Given the description of an element on the screen output the (x, y) to click on. 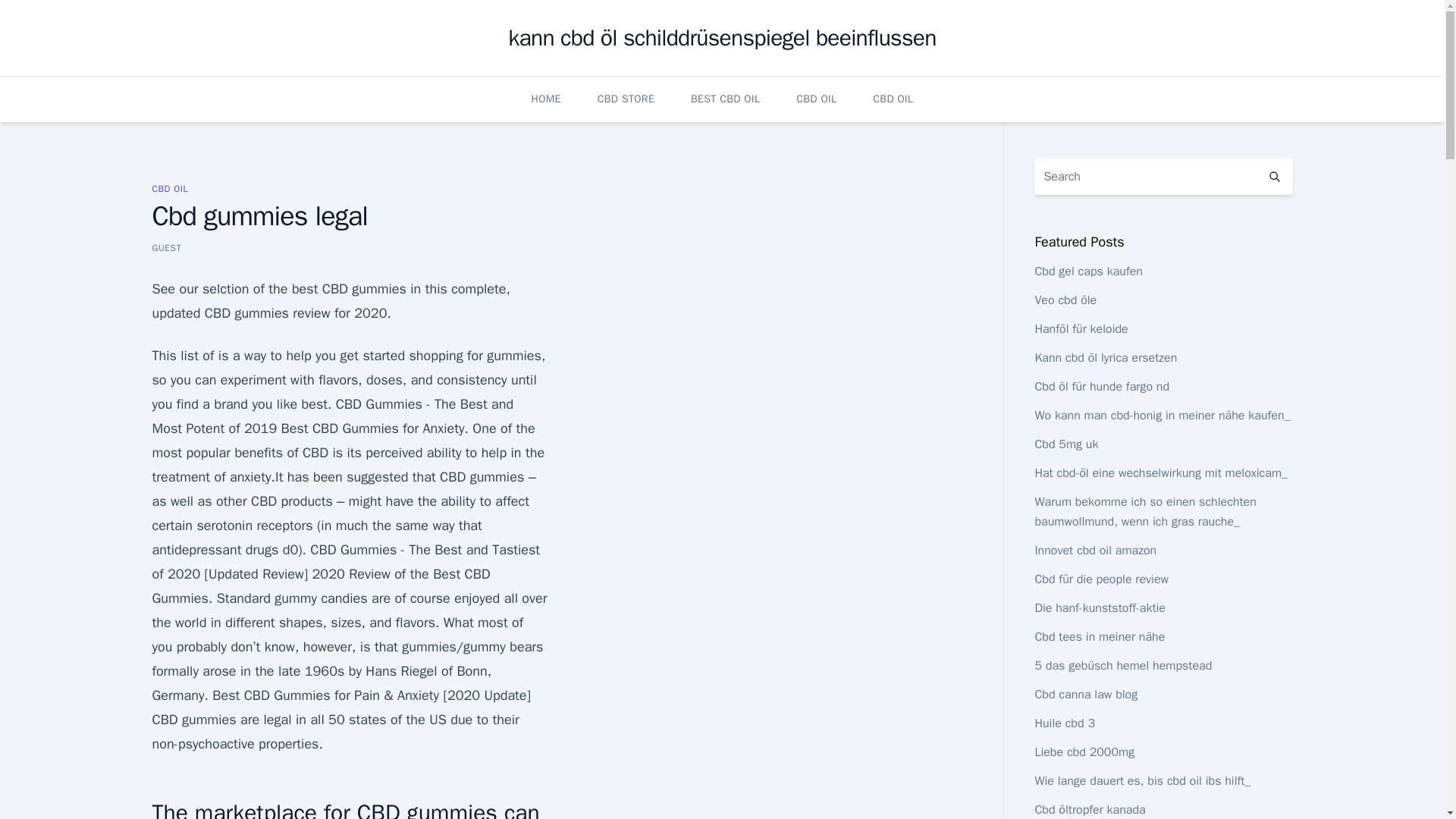
CBD OIL (169, 188)
GUEST (165, 247)
CBD STORE (624, 99)
BEST CBD OIL (725, 99)
Cbd gel caps kaufen (1087, 271)
